Given the description of an element on the screen output the (x, y) to click on. 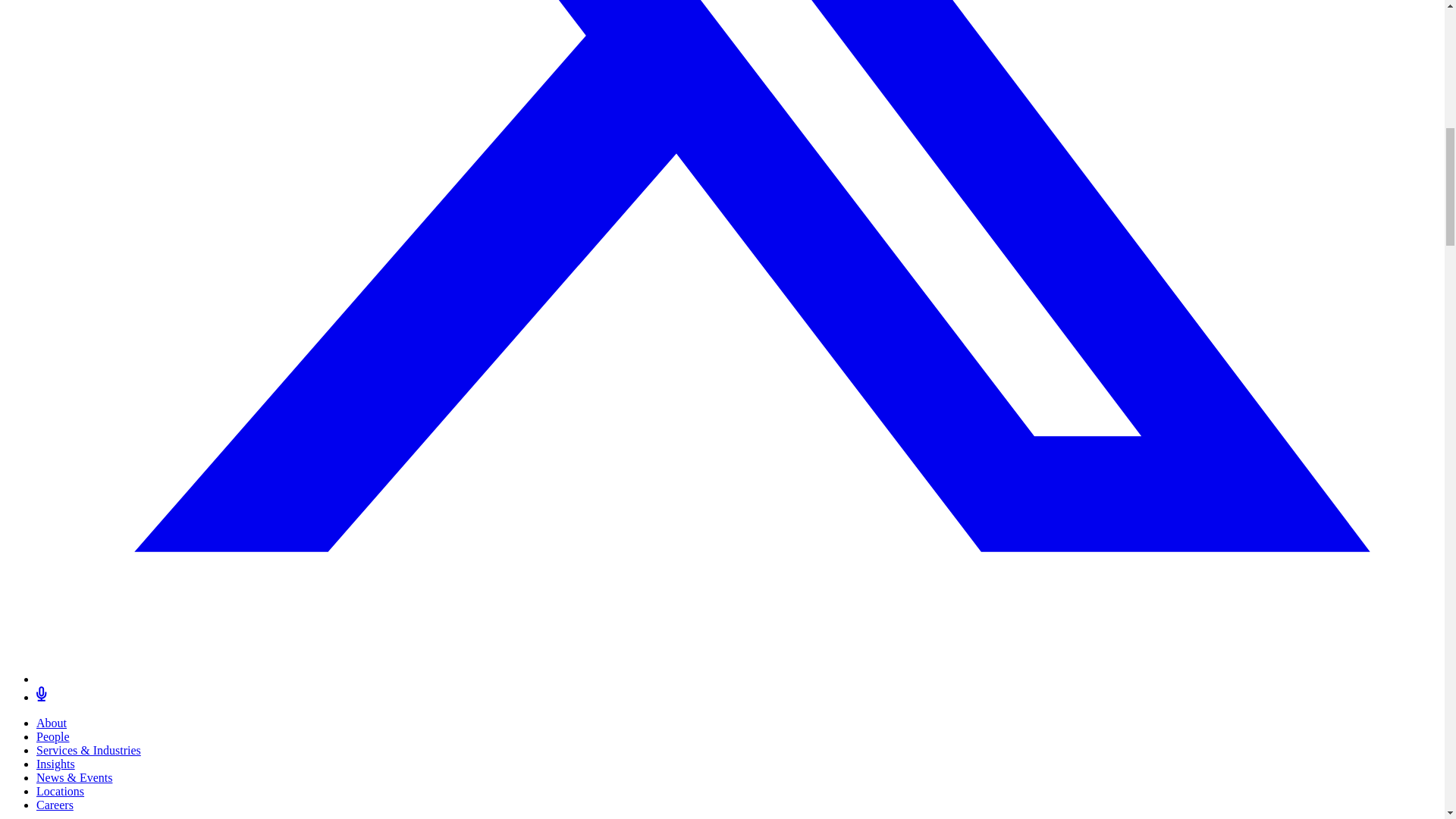
Careers (55, 804)
Locations (60, 790)
About (51, 722)
People (52, 736)
Insights (55, 763)
